Given the description of an element on the screen output the (x, y) to click on. 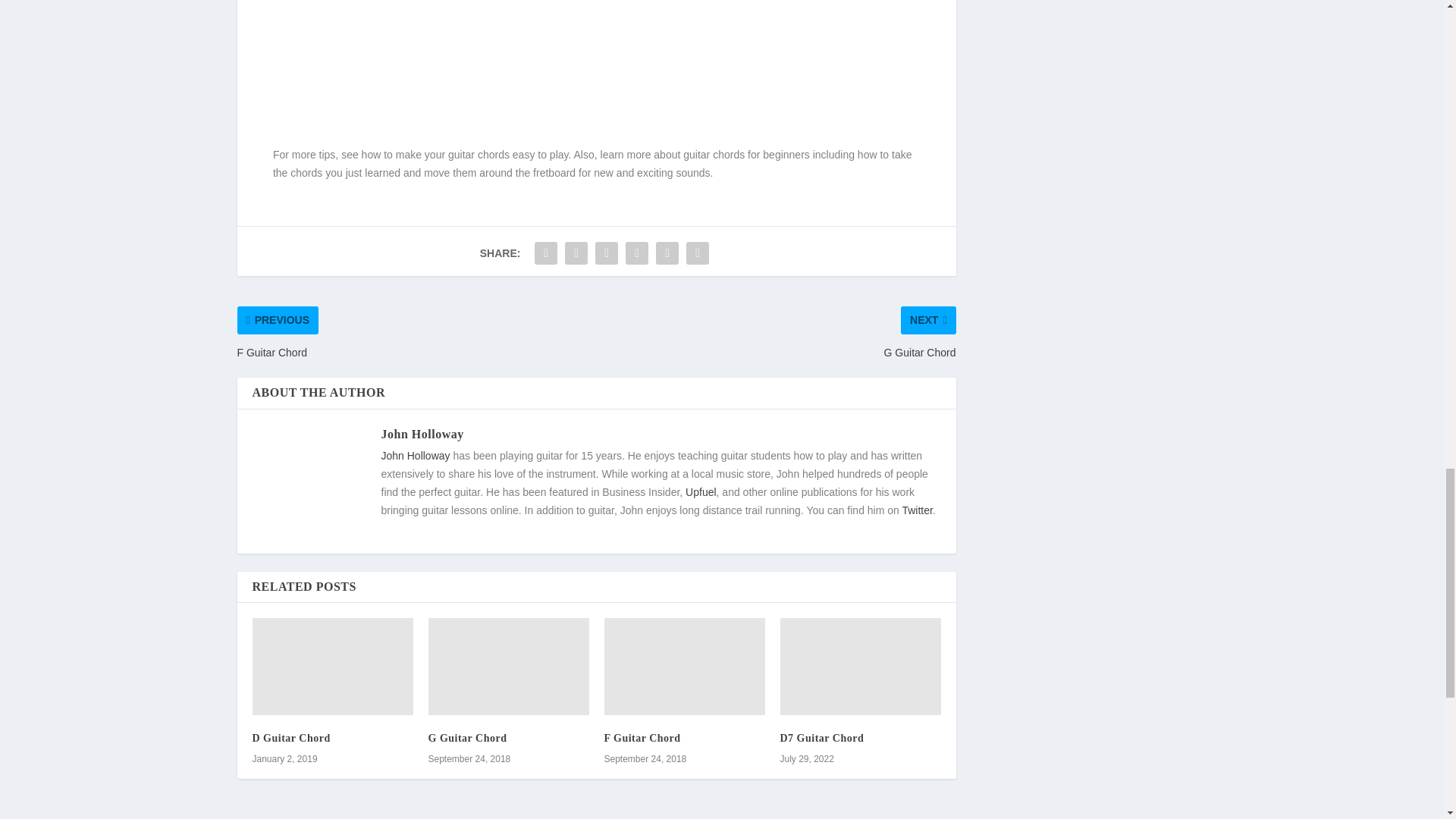
F Guitar Chord (684, 666)
Share "B Guitar Chord" via Print (697, 253)
Share "B Guitar Chord" via LinkedIn (636, 253)
Share "B Guitar Chord" via Twitter (575, 253)
D Guitar Chord (331, 666)
Share "B Guitar Chord" via Facebook (545, 253)
View all posts by John Holloway (421, 433)
Share "B Guitar Chord" via Email (667, 253)
Share "B Guitar Chord" via Pinterest (606, 253)
G Guitar Chord (508, 666)
